Given the description of an element on the screen output the (x, y) to click on. 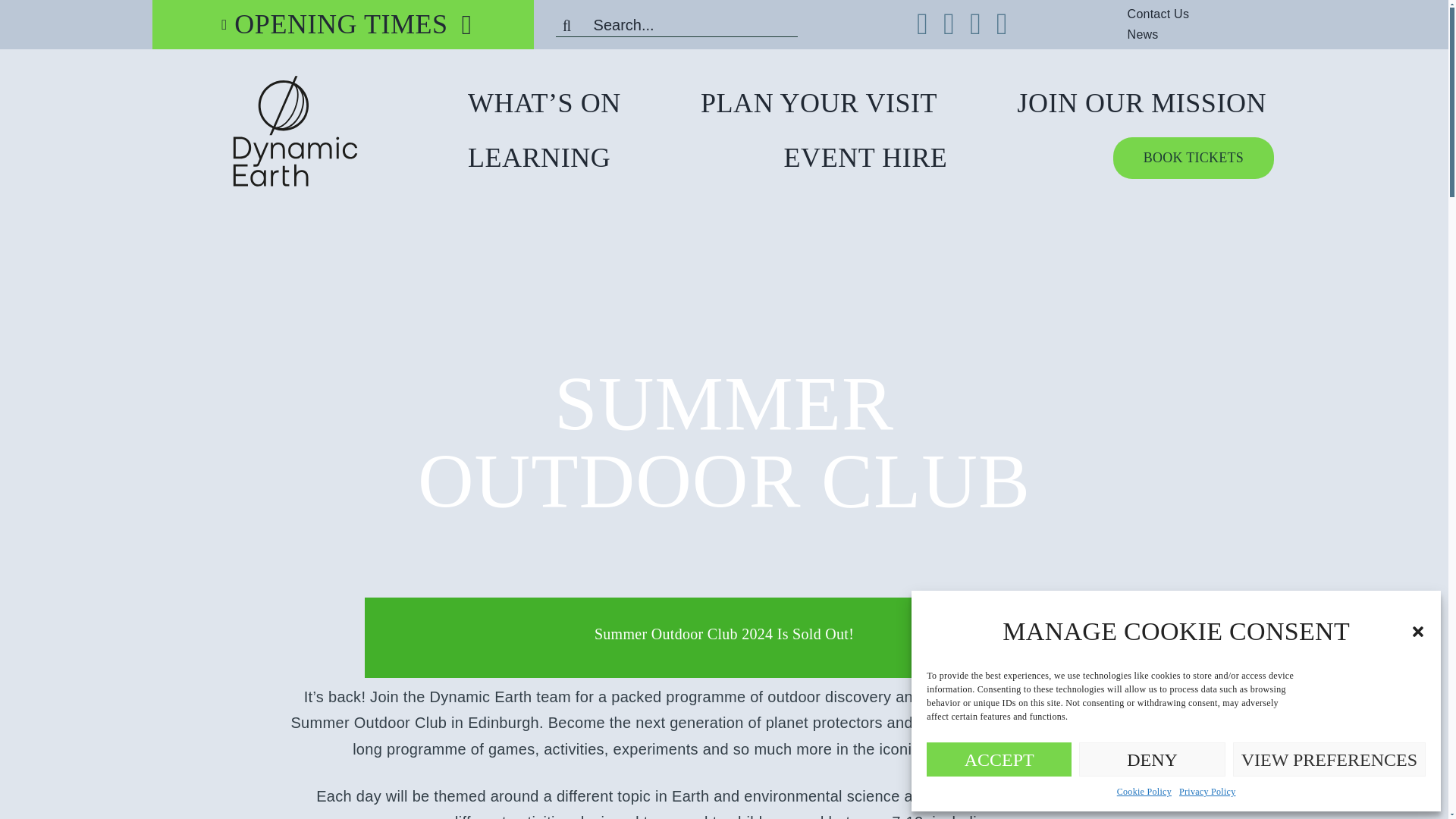
Privacy Policy (1207, 791)
News (1157, 34)
Cookie Policy (1144, 791)
ACCEPT (998, 759)
Contact Us (1173, 14)
VIEW PREFERENCES (1329, 759)
PLAN YOUR VISIT (818, 103)
DENY (1151, 759)
OPENING TIMES (331, 24)
